Given the description of an element on the screen output the (x, y) to click on. 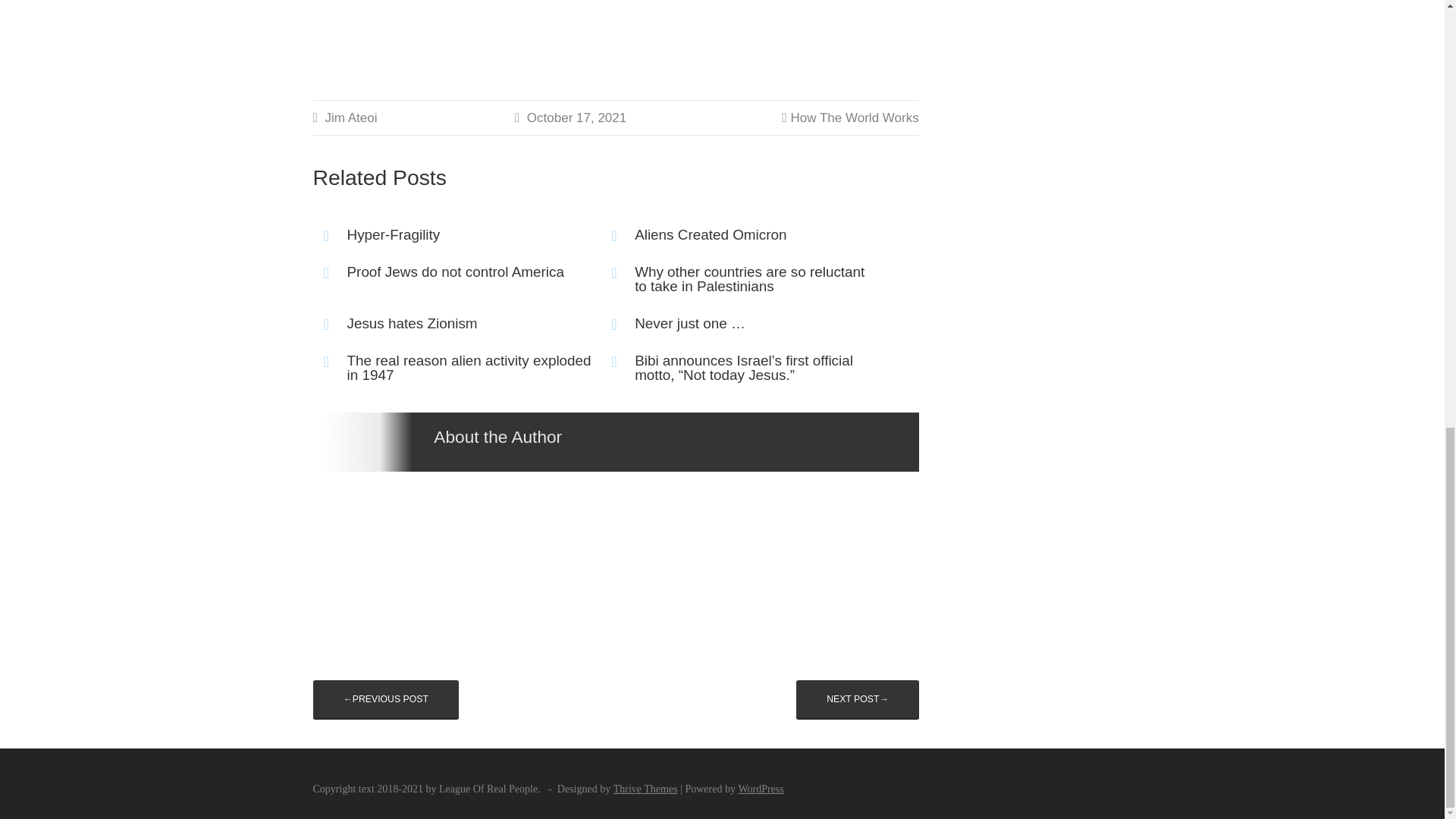
Aliens Created Omicron (739, 235)
Proof Jews do not control America (452, 272)
Jim Ateoi (350, 117)
Thrive Themes (645, 788)
Jesus hates Zionism (452, 324)
The real reason alien activity exploded in 1947 (452, 368)
Hyper-Fragility (452, 235)
WordPress (760, 788)
Why other countries are so reluctant to take in Palestinians (739, 279)
How The World Works (854, 117)
